Given the description of an element on the screen output the (x, y) to click on. 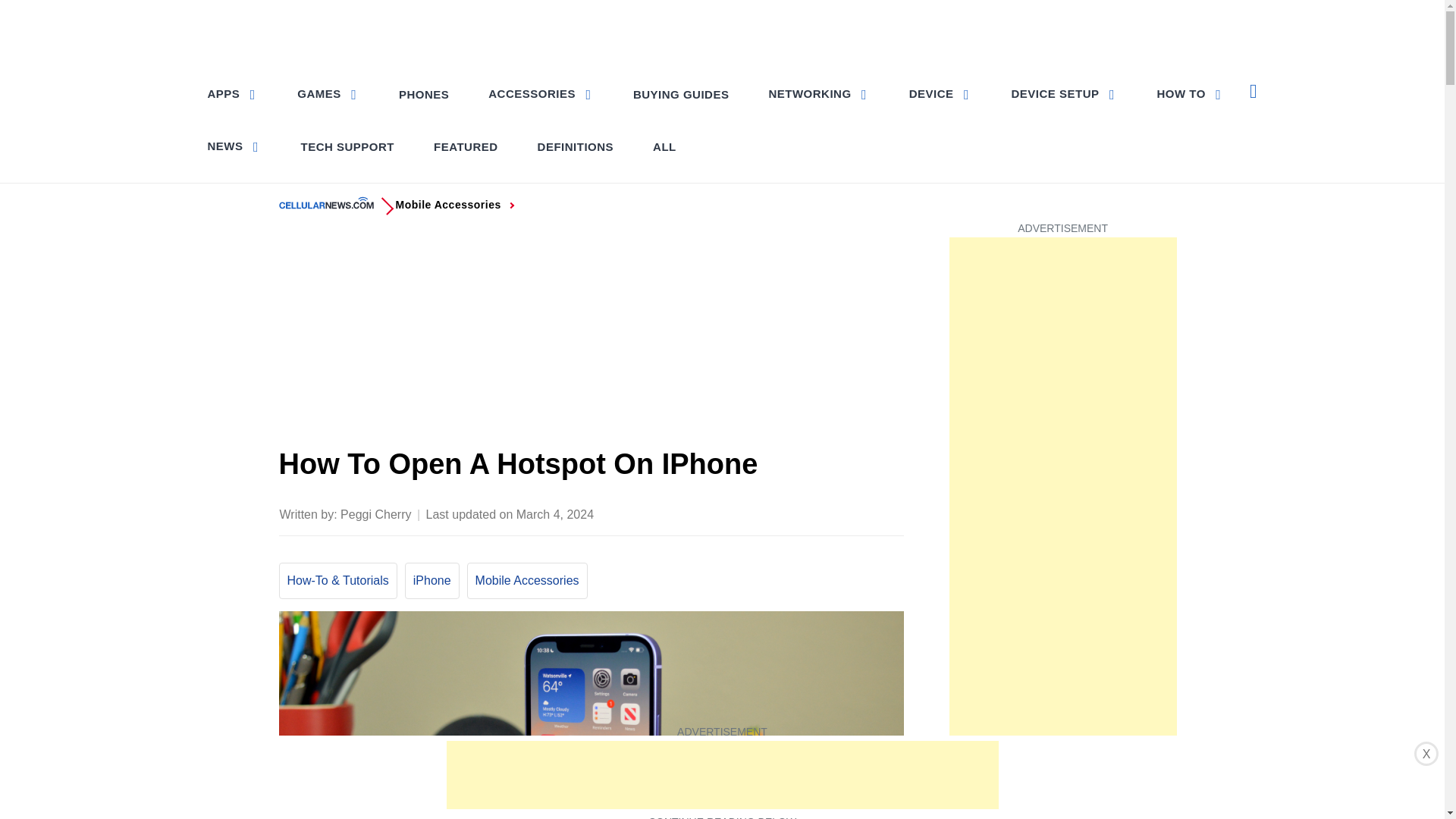
Share on twitter (769, 512)
DEVICE (940, 93)
Share on Whatsapp (829, 512)
PHONES (424, 94)
GAMES (327, 93)
Mail the Link (890, 512)
BUYING GUIDES (681, 94)
Copy to Clipboard (860, 512)
NETWORKING (818, 93)
Share on facebook (740, 512)
